Given the description of an element on the screen output the (x, y) to click on. 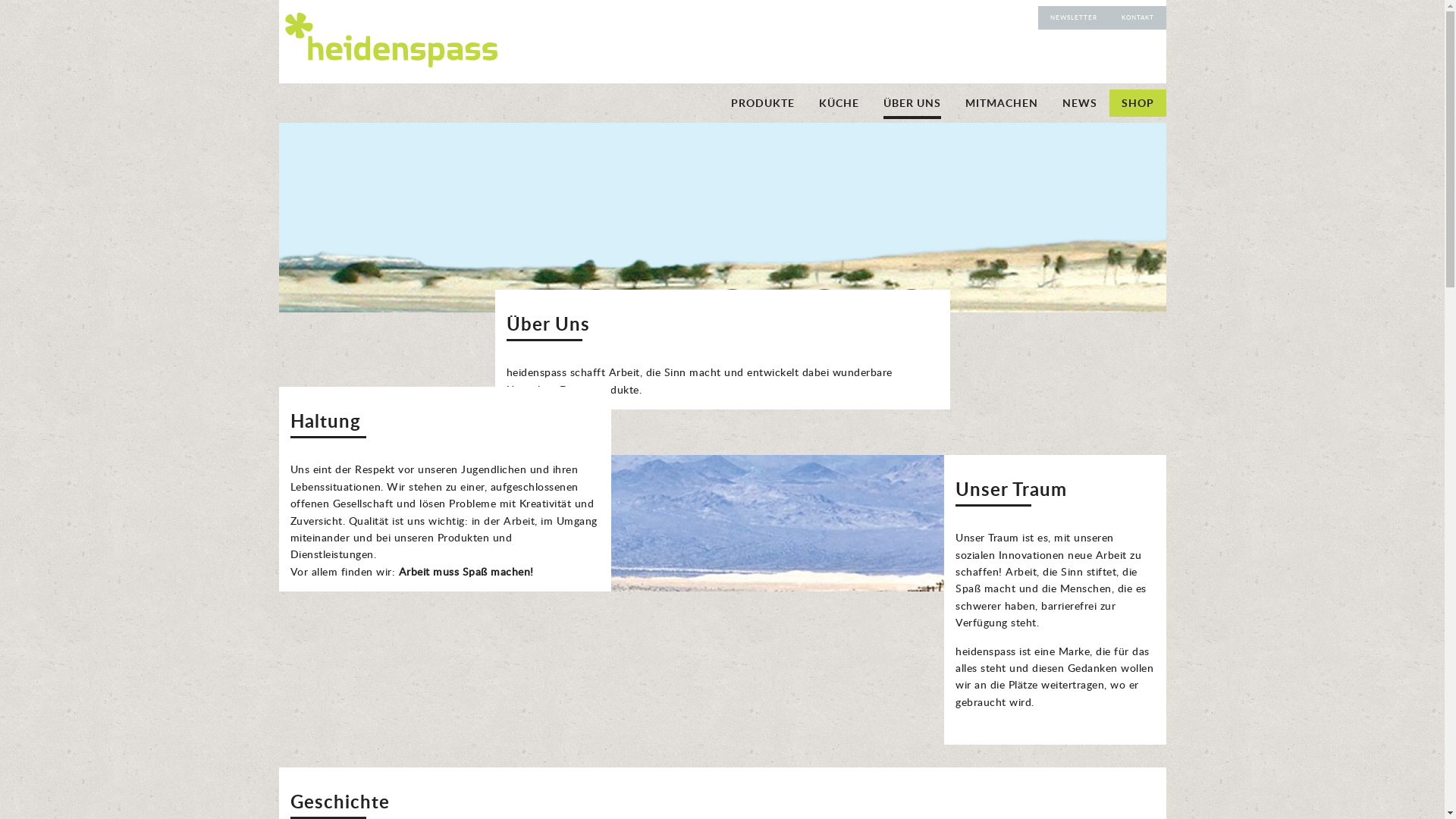
PRODUKTE Element type: text (762, 102)
KONTAKT Element type: text (1136, 17)
SHOP Element type: text (1136, 102)
heidenspass heidenspass Element type: text (388, 63)
NEWS Element type: text (1078, 102)
MITMACHEN Element type: text (1000, 102)
NEWSLETTER Element type: text (1072, 17)
